Given the description of an element on the screen output the (x, y) to click on. 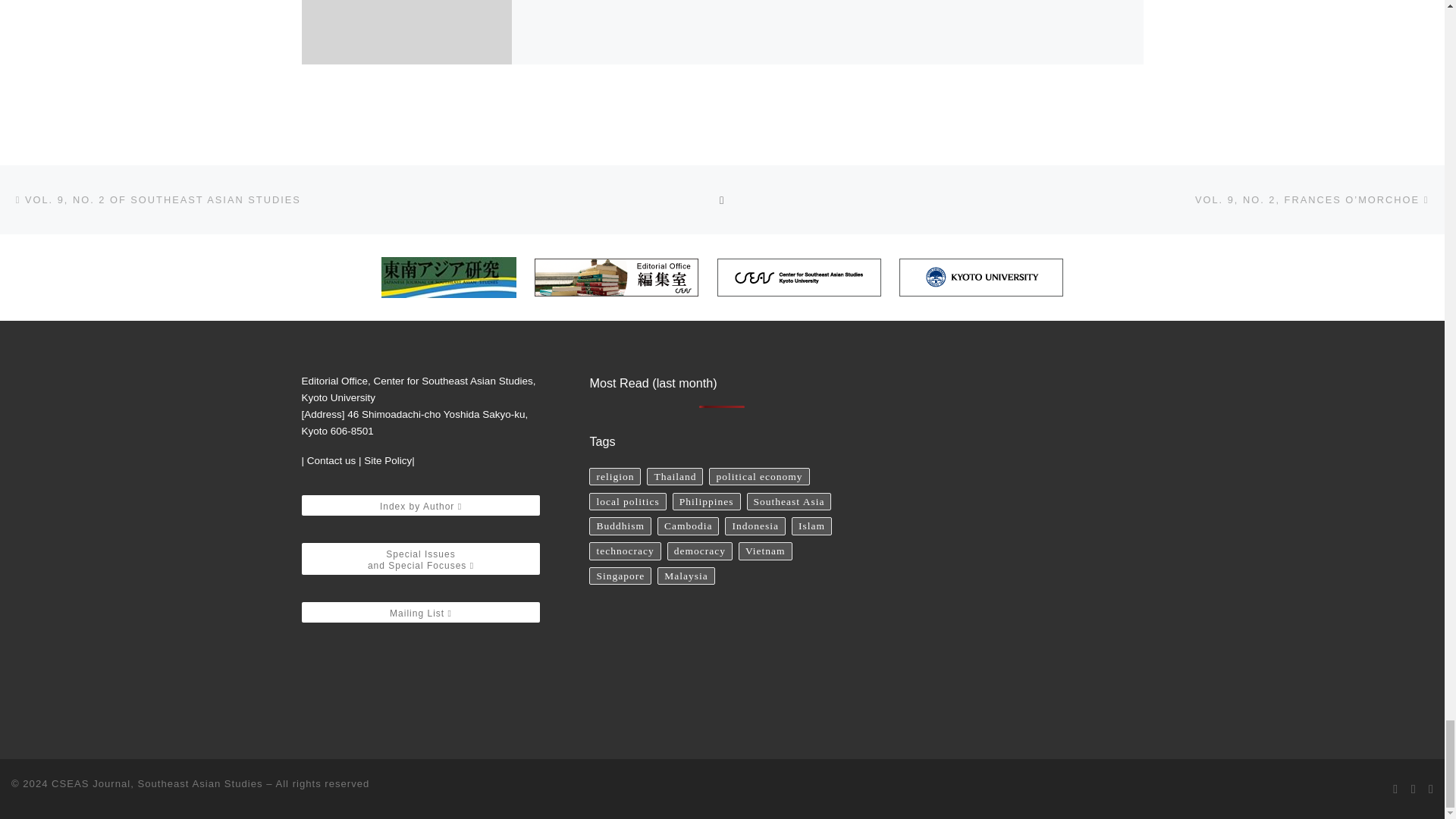
CSEAS Journal, Southeast Asian Studies (156, 783)
